Given the description of an element on the screen output the (x, y) to click on. 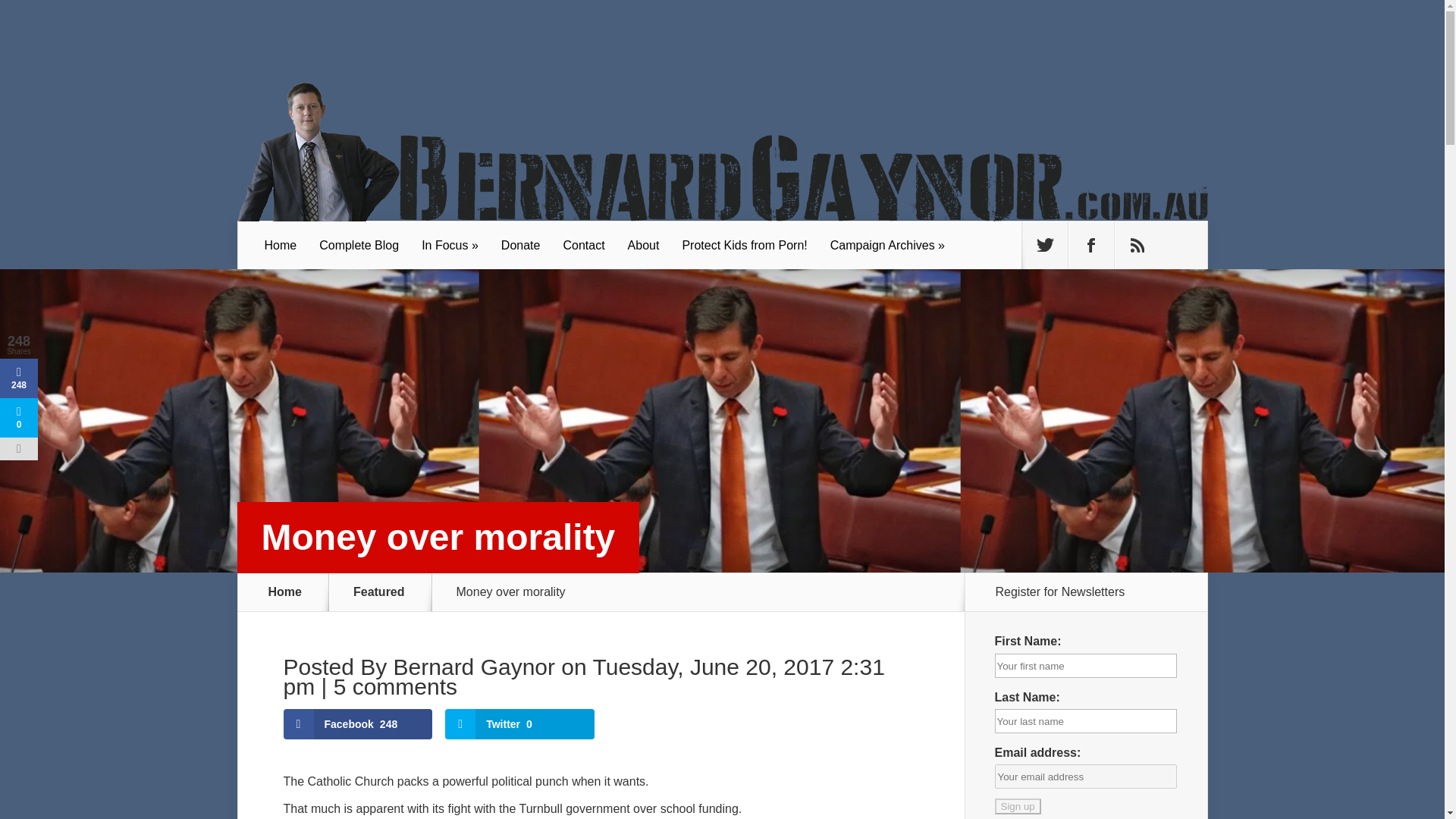
Campaign Archives (887, 245)
About (643, 245)
Home (285, 592)
Complete Blog (358, 245)
Posts by Bernard Gaynor (473, 666)
Subscribe To Rss Feed (1137, 245)
Sign up (1017, 806)
Follow us on Facebook (1090, 245)
Featured (388, 592)
Protect Kids from Porn! (743, 245)
Donate (520, 245)
Bernard Gaynor (473, 666)
Contact (583, 245)
In Focus (449, 245)
Home (280, 245)
